Given the description of an element on the screen output the (x, y) to click on. 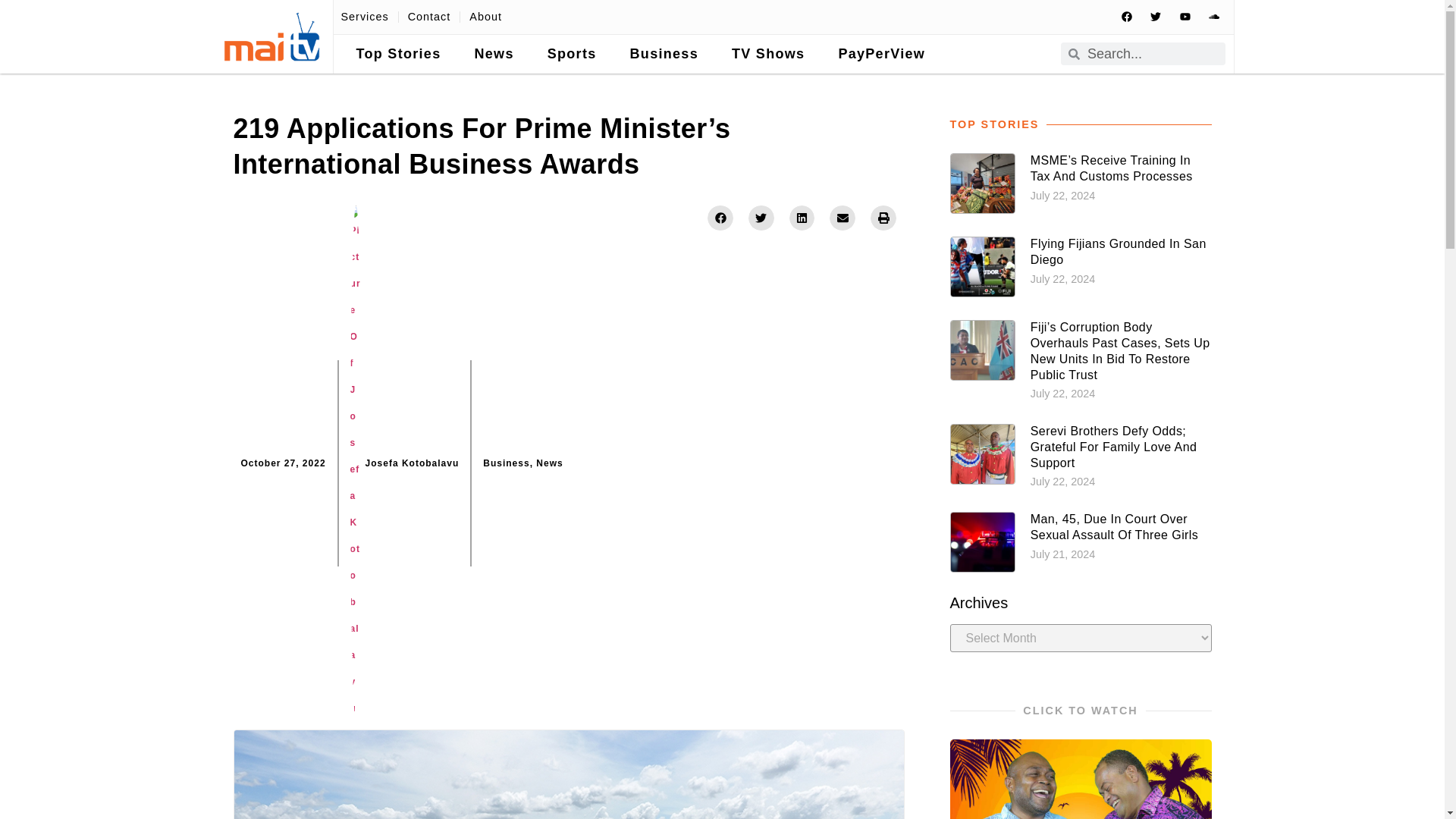
TV Shows (767, 54)
Business (663, 54)
News (493, 54)
PayPerView (881, 54)
Sports (571, 54)
Contact (429, 17)
Services (364, 17)
Top Stories (398, 54)
About (485, 17)
